Given the description of an element on the screen output the (x, y) to click on. 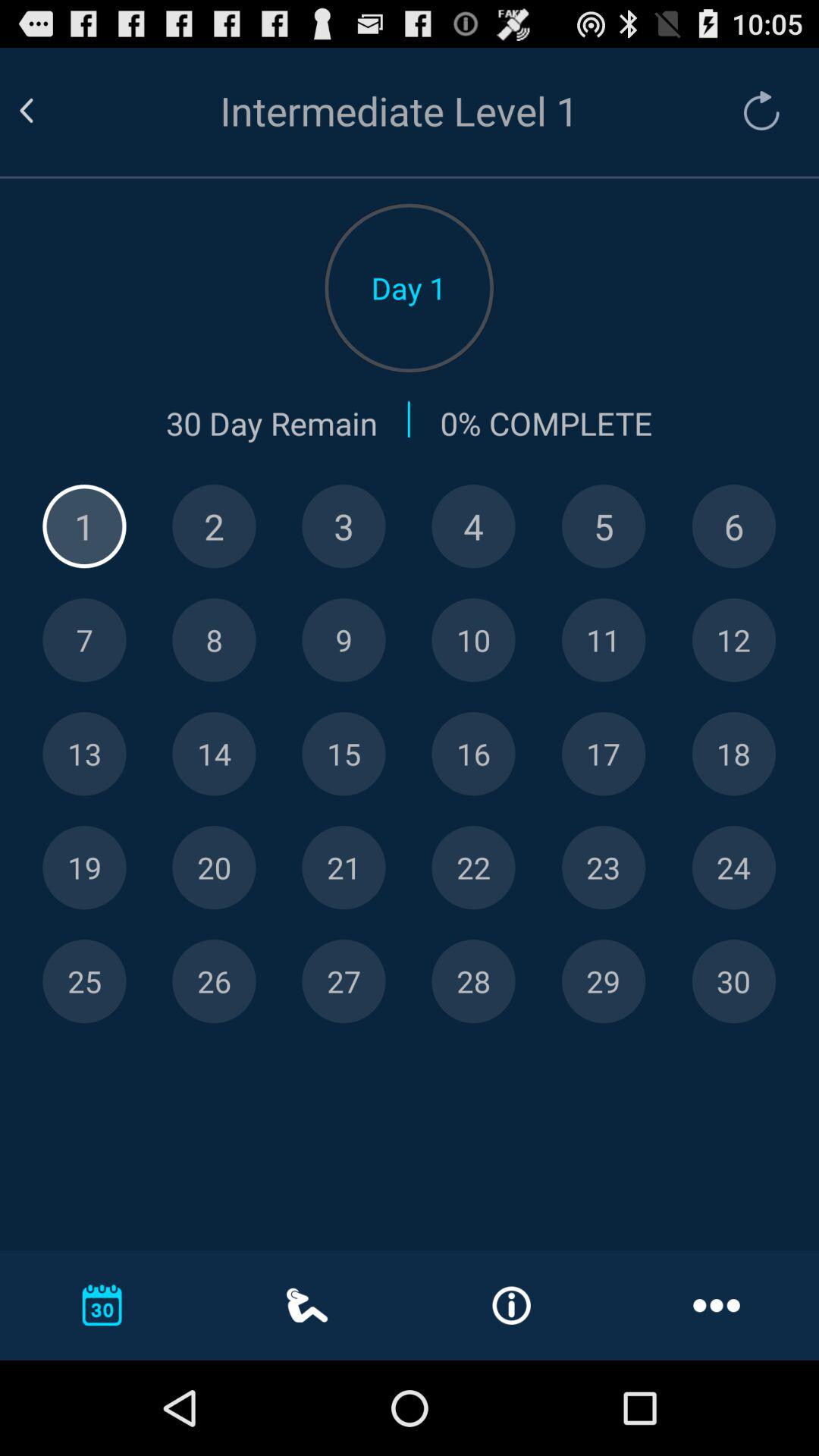
go to day 4 (473, 526)
